Given the description of an element on the screen output the (x, y) to click on. 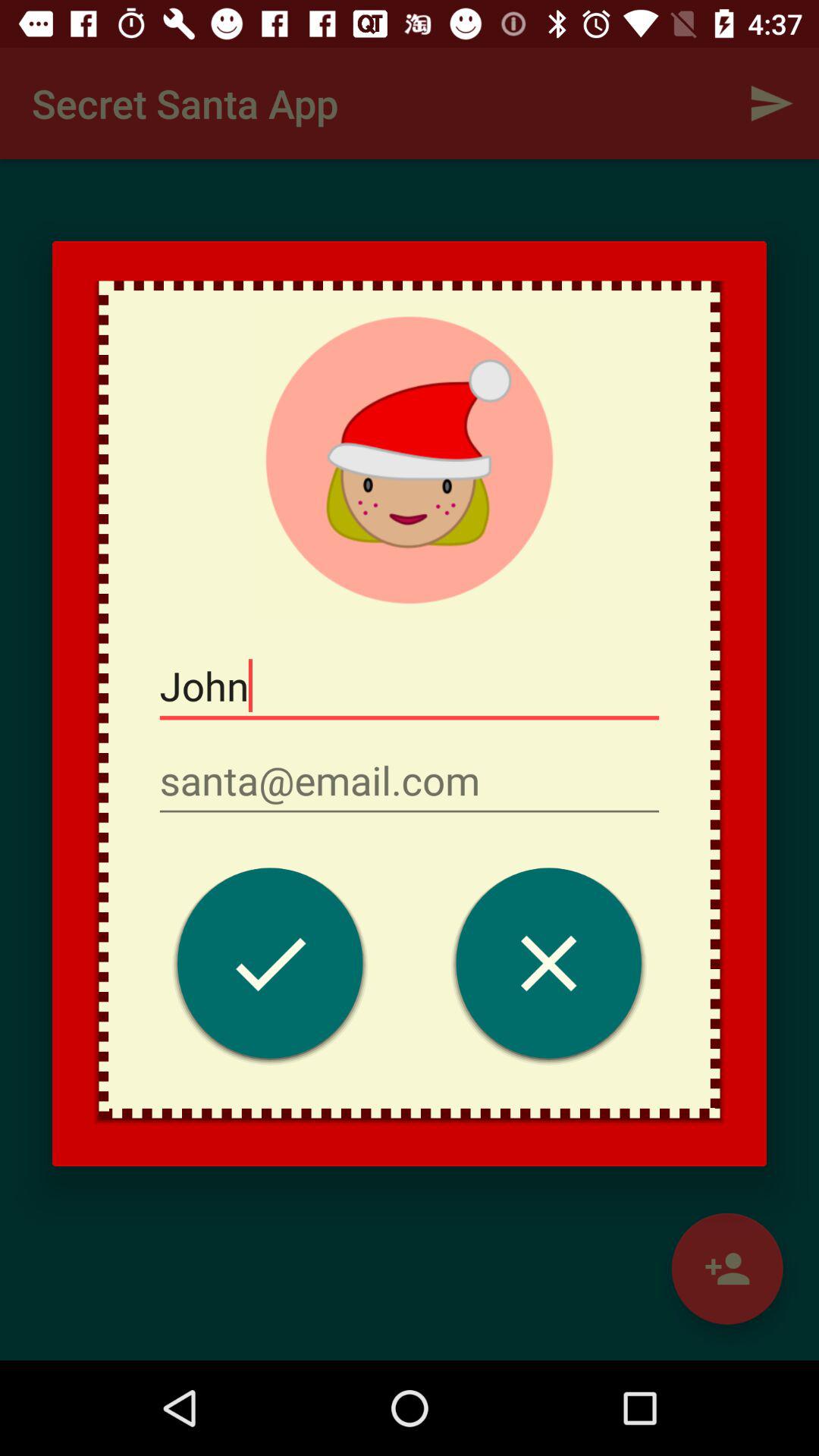
tap john item (409, 686)
